Given the description of an element on the screen output the (x, y) to click on. 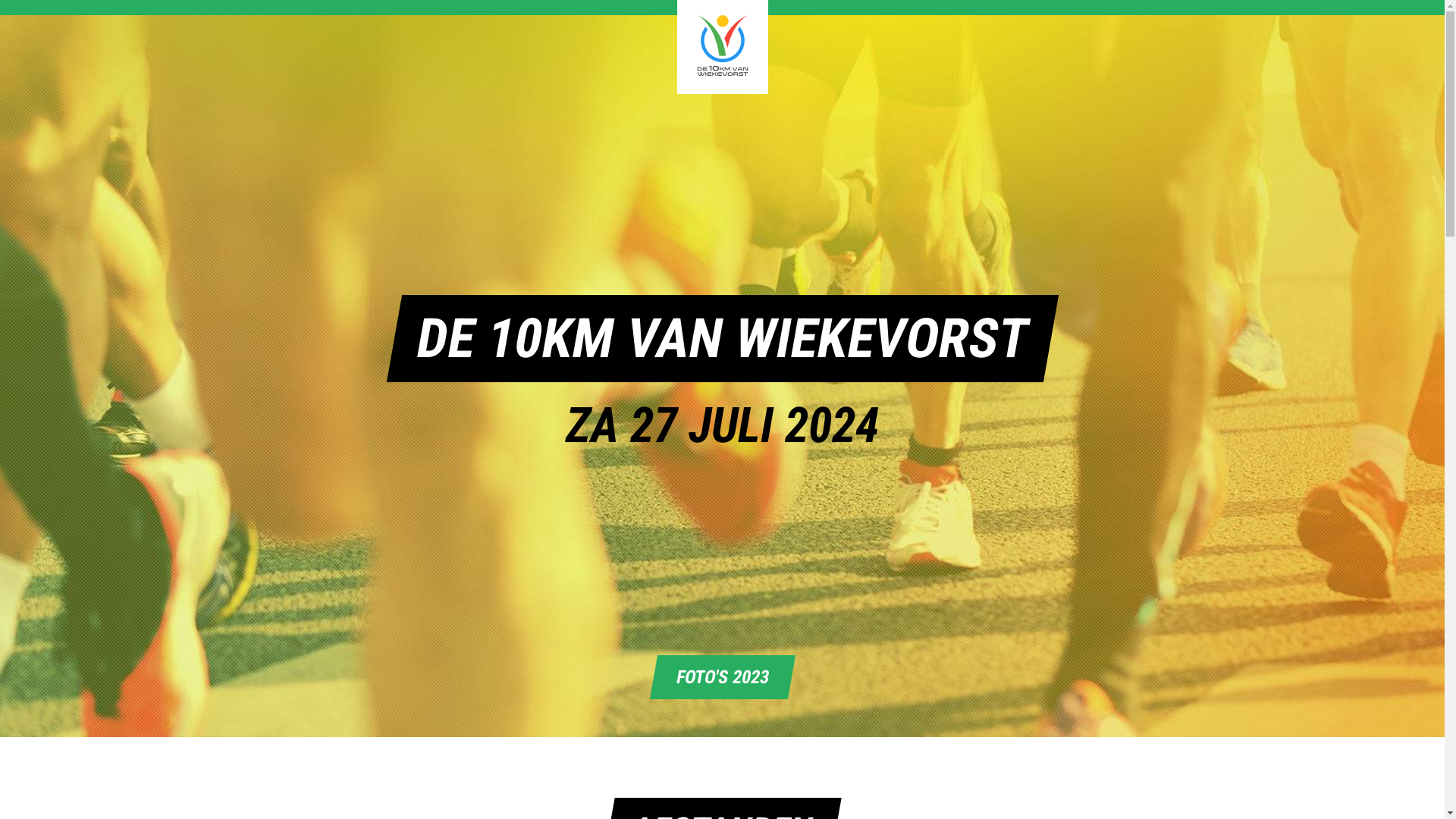
FOTO'S 2023 Element type: text (718, 677)
